Given the description of an element on the screen output the (x, y) to click on. 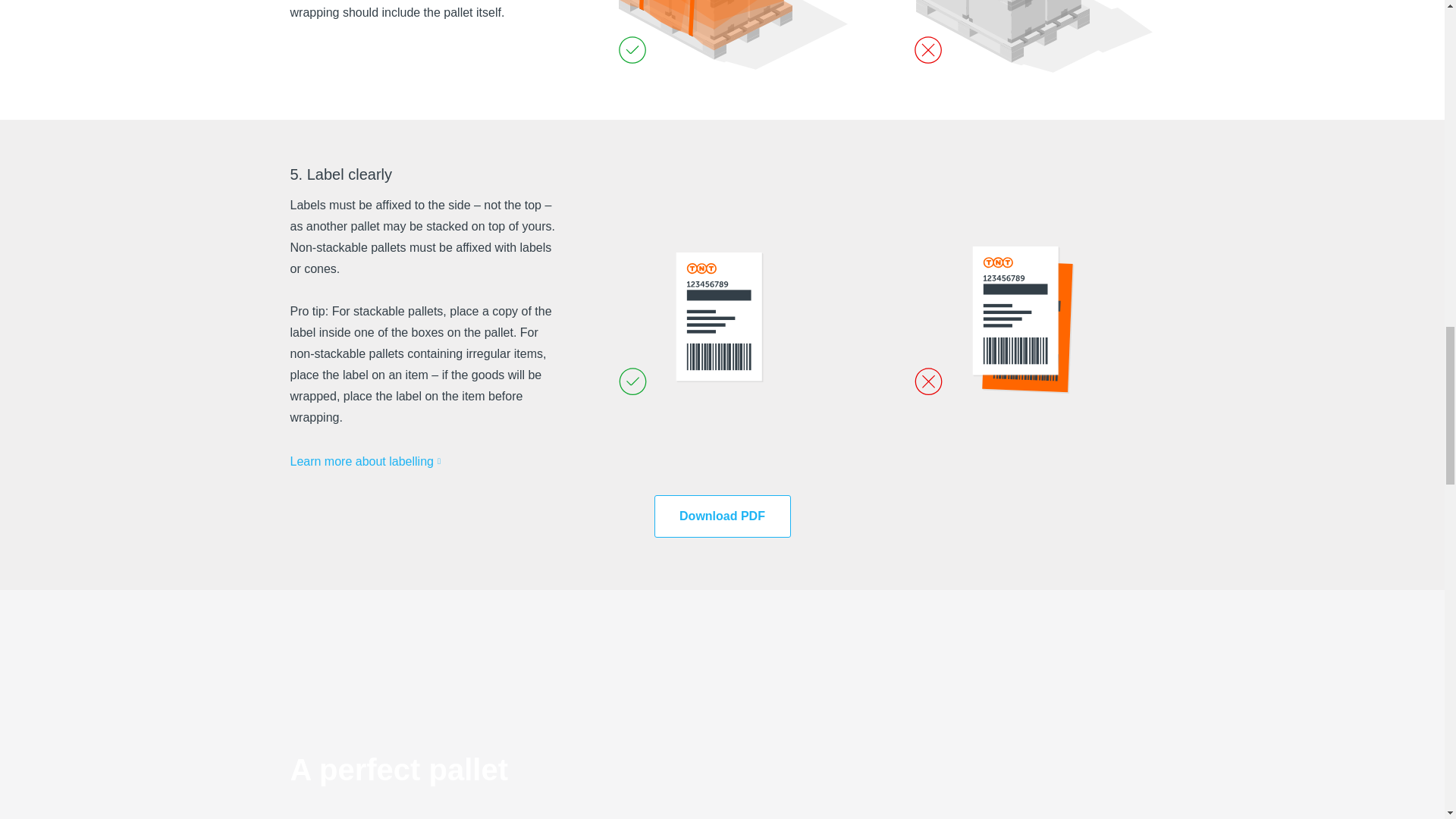
Learn more about labelling (370, 461)
Download PDF (721, 516)
